Given the description of an element on the screen output the (x, y) to click on. 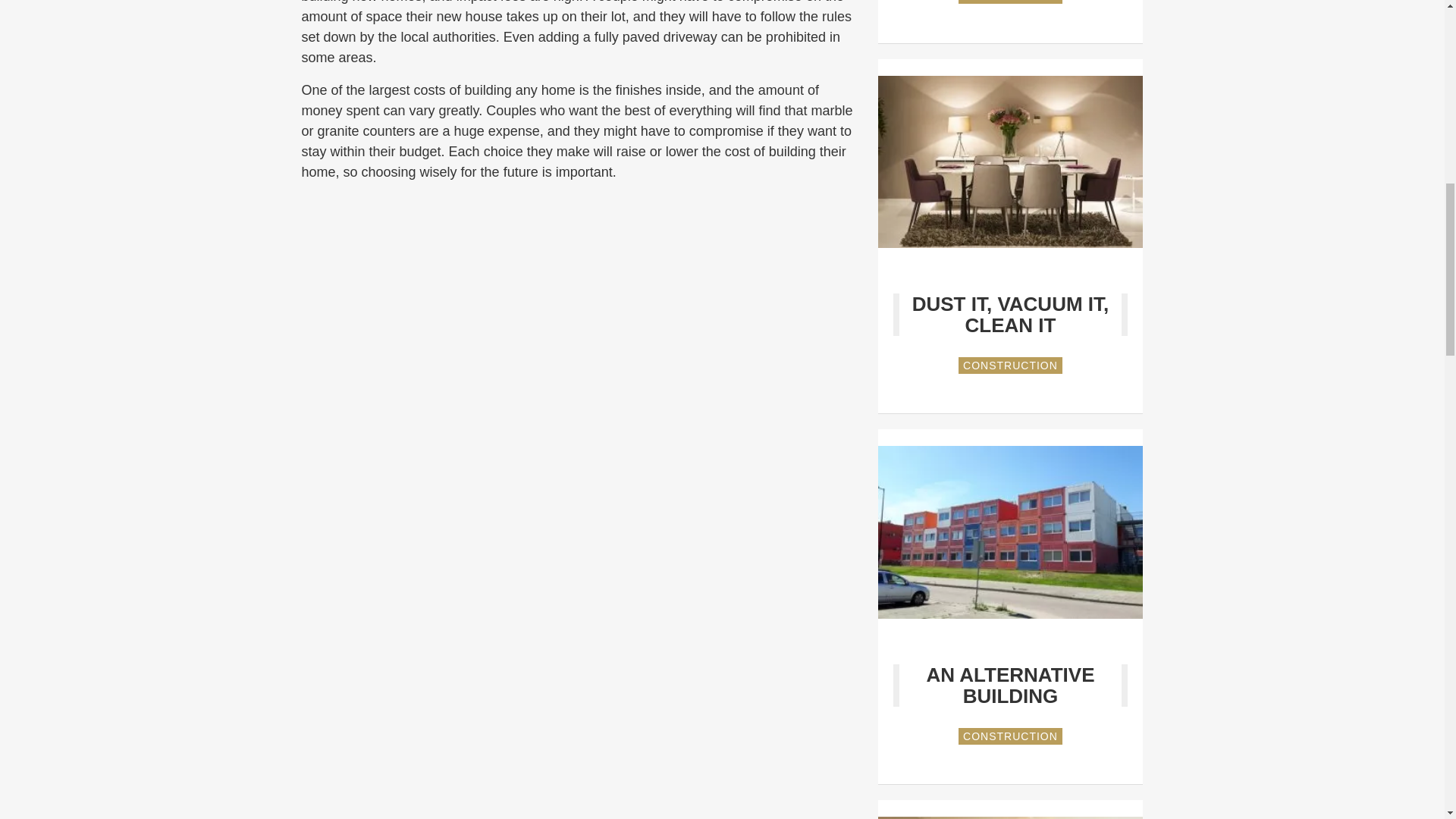
CONSTRUCTION (1010, 365)
DUST IT, VACUUM IT, CLEAN IT (1010, 314)
CONSTRUCTION (1010, 2)
CONSTRUCTION (1010, 736)
AN ALTERNATIVE BUILDING (1010, 685)
